Given the description of an element on the screen output the (x, y) to click on. 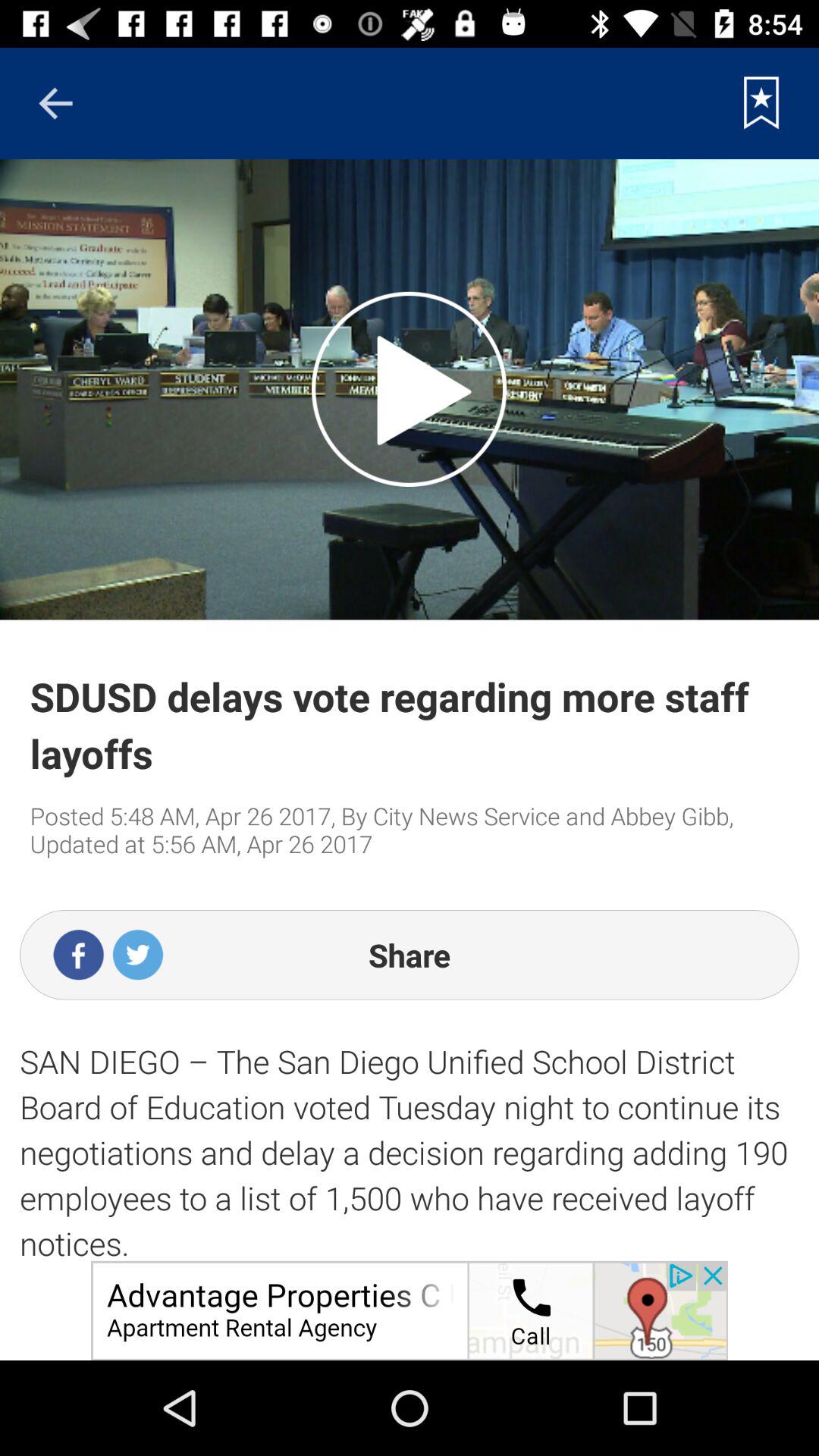
click archieve button (761, 102)
